Given the description of an element on the screen output the (x, y) to click on. 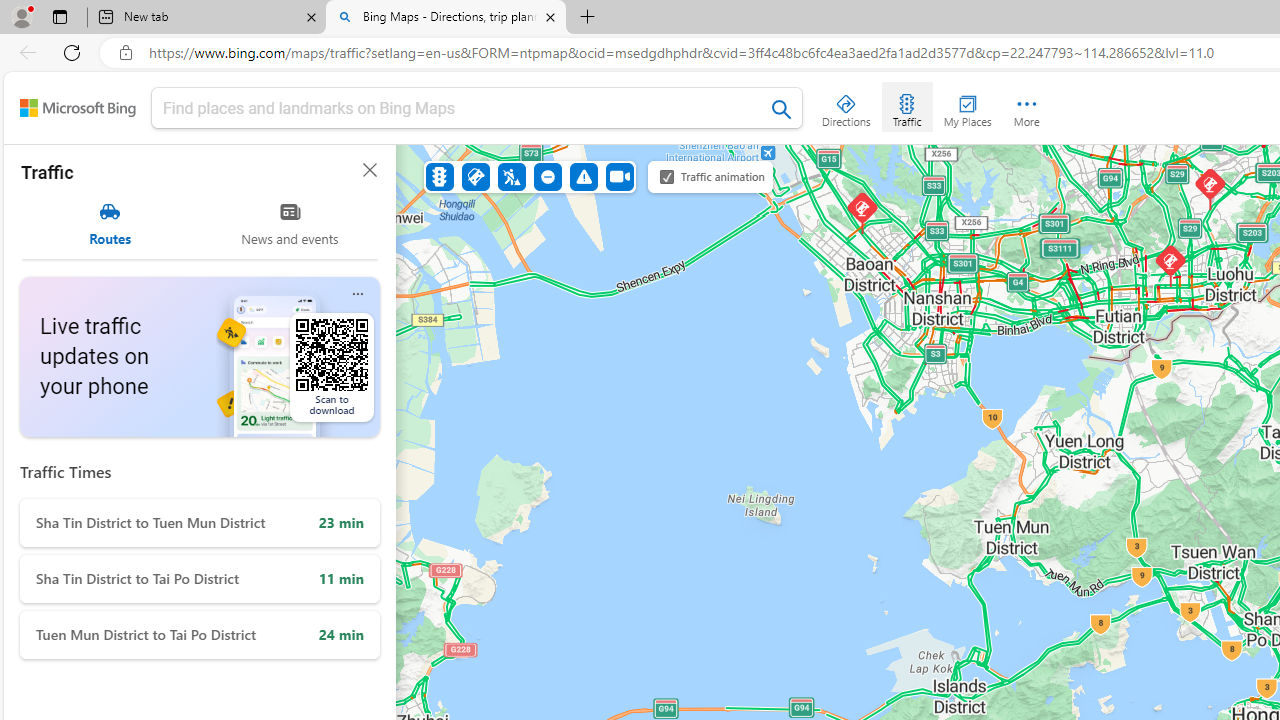
Cameras (619, 176)
Road Closures (547, 176)
Back to Bing search (77, 107)
Directions (846, 106)
